Given the description of an element on the screen output the (x, y) to click on. 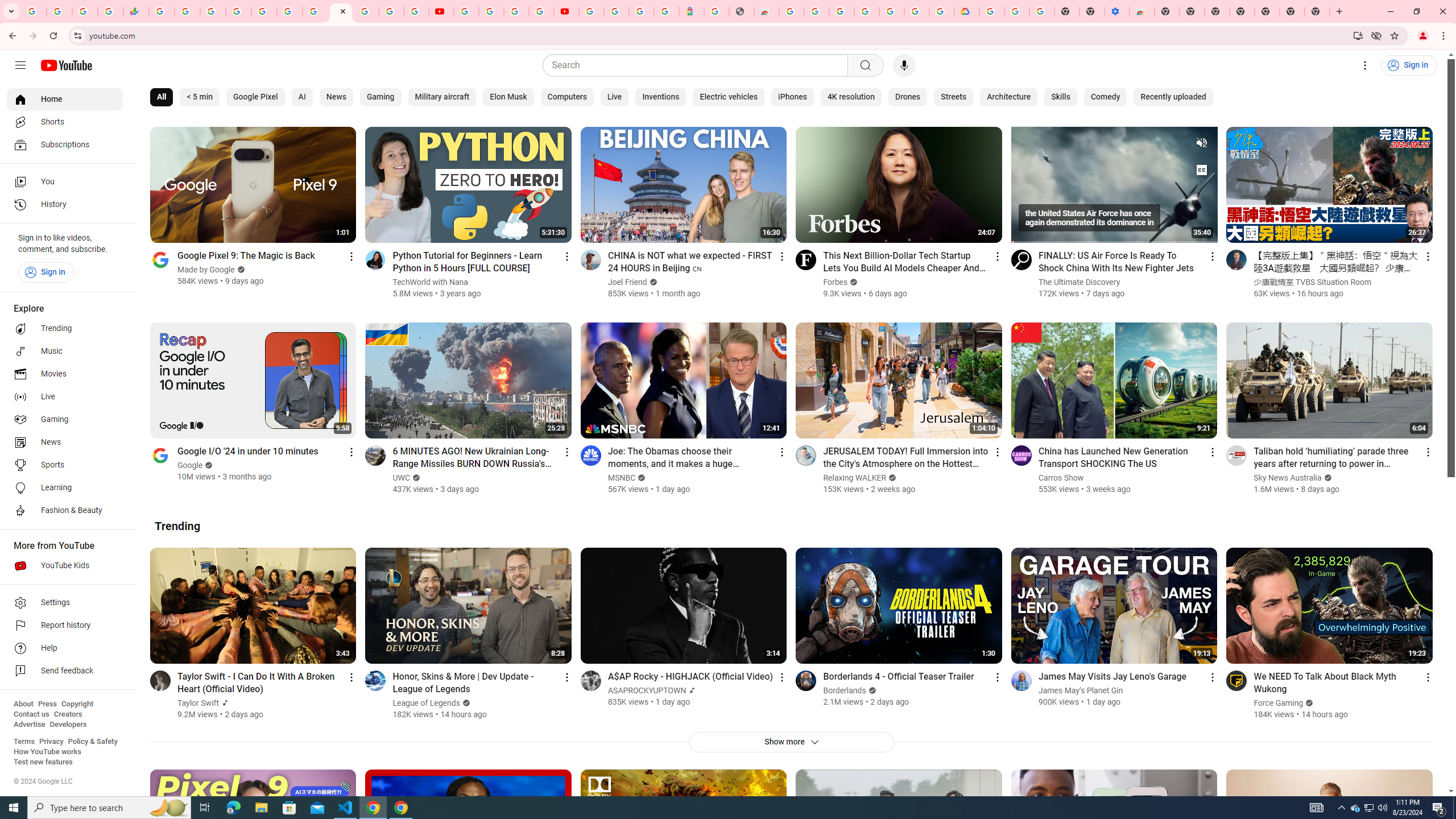
Settings - Accessibility (1116, 11)
Google Account Help (491, 11)
Go to channel (1236, 680)
Subscriptions (64, 144)
AI (302, 97)
About (23, 703)
4K resolution (850, 97)
Subtitles/CC turned on (1201, 169)
ASAPROCKYUPTOWN (647, 690)
